Given the description of an element on the screen output the (x, y) to click on. 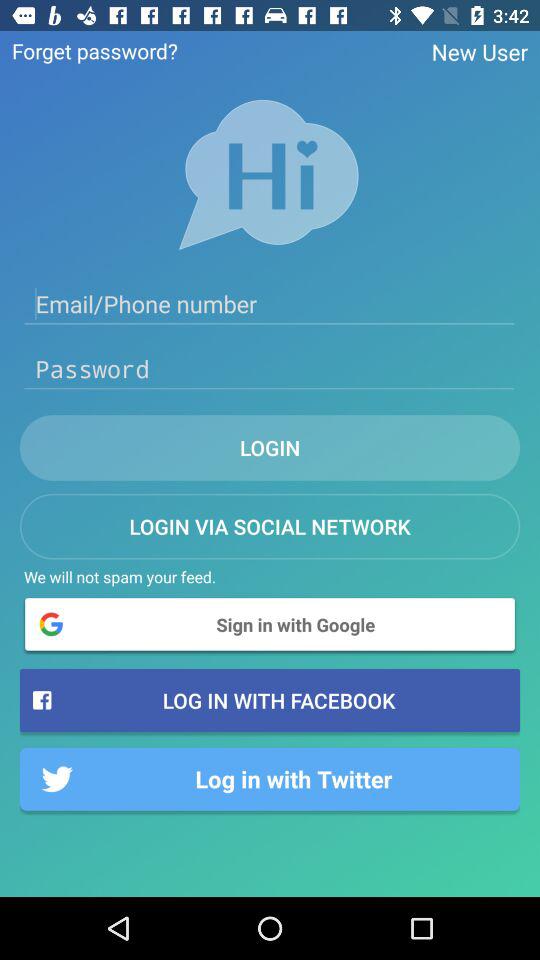
type phone no (269, 304)
